Given the description of an element on the screen output the (x, y) to click on. 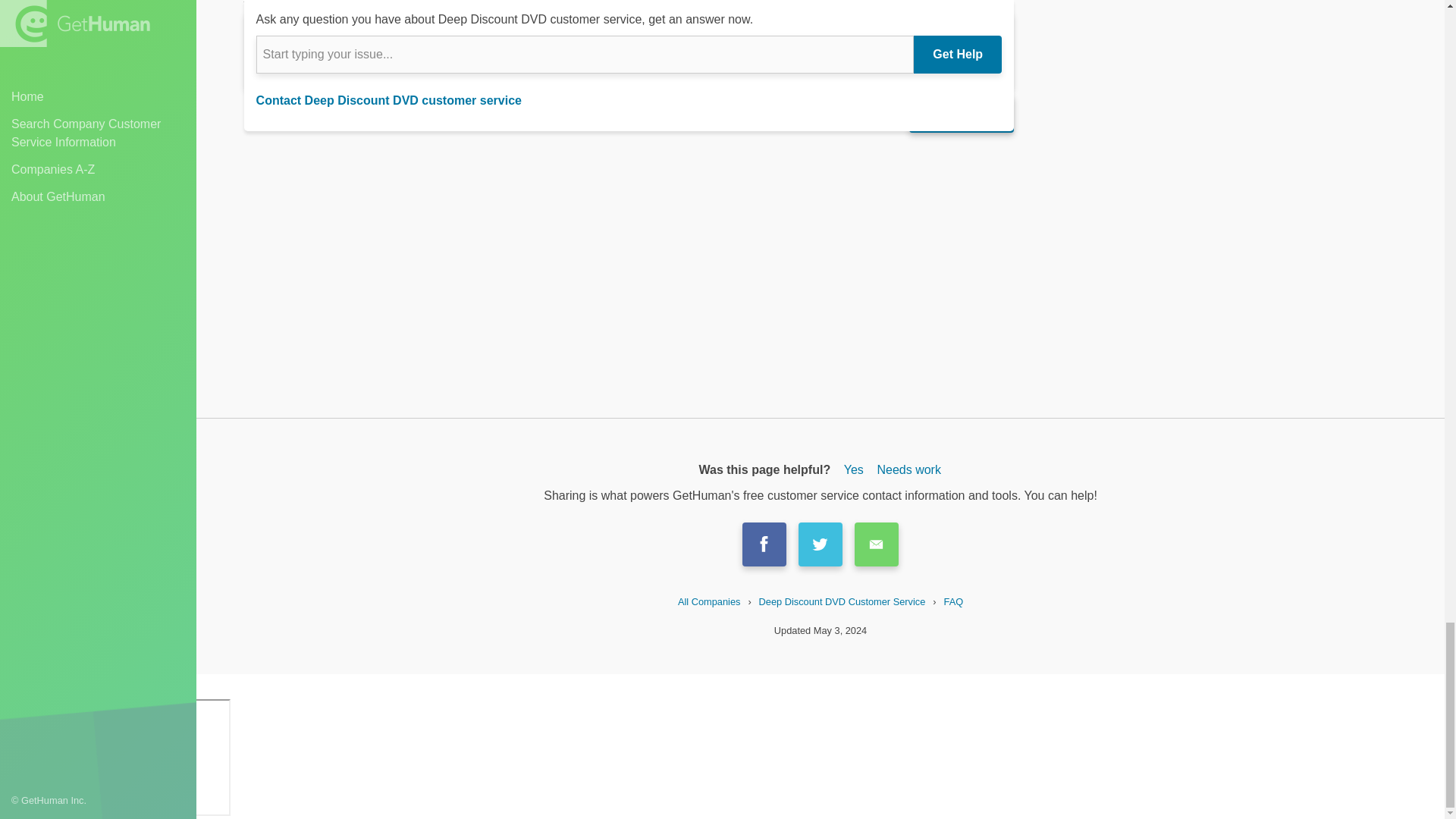
Share with Facebook (764, 544)
Share via Email (876, 544)
Get Answer (960, 113)
Share via Twitter (819, 544)
